Given the description of an element on the screen output the (x, y) to click on. 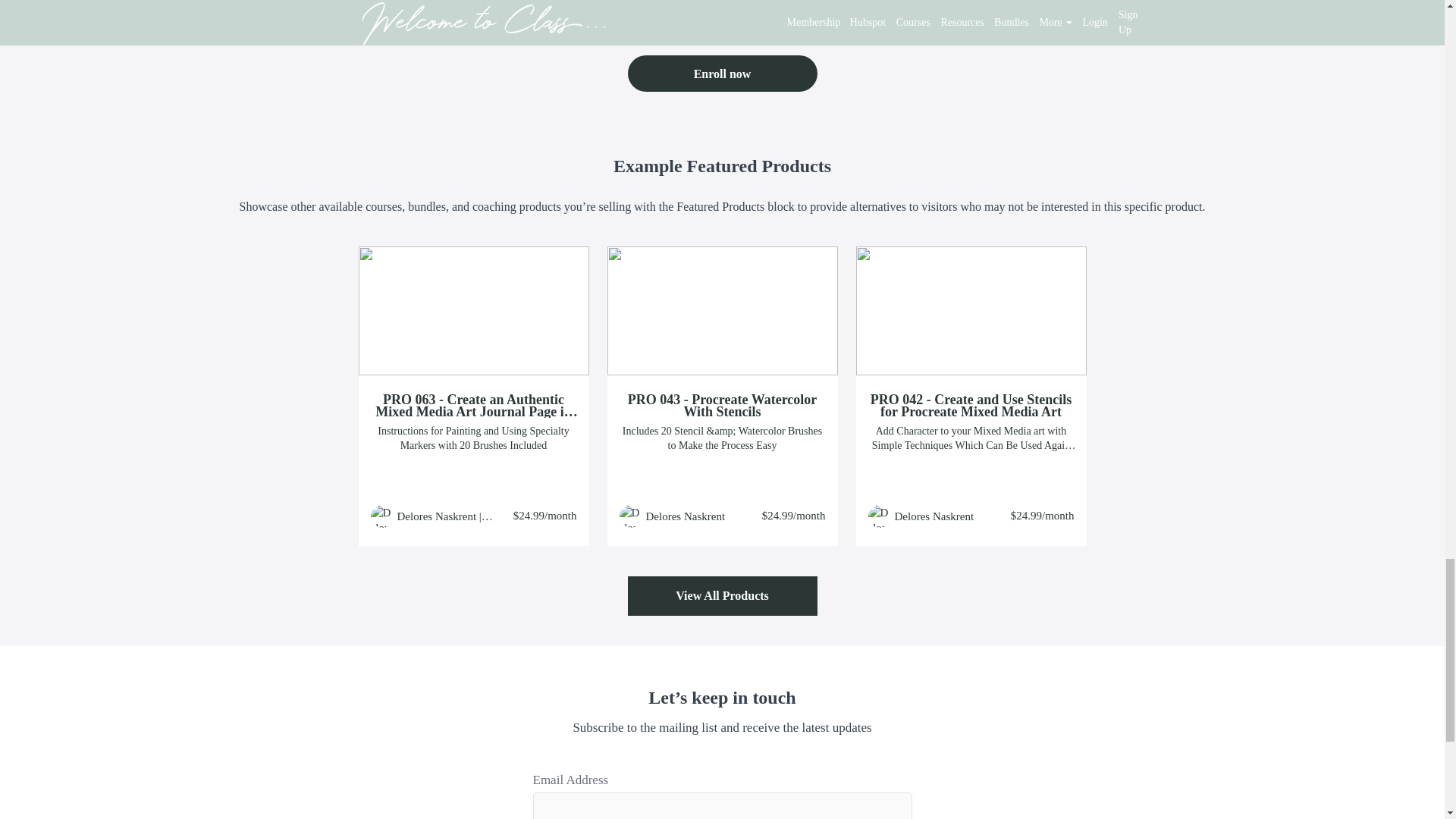
View All Products (721, 596)
Enroll now (721, 73)
PRO 043 - Procreate Watercolor With Stencils (721, 405)
Delores Naskrent (934, 516)
Delores Naskrent (685, 516)
